Given the description of an element on the screen output the (x, y) to click on. 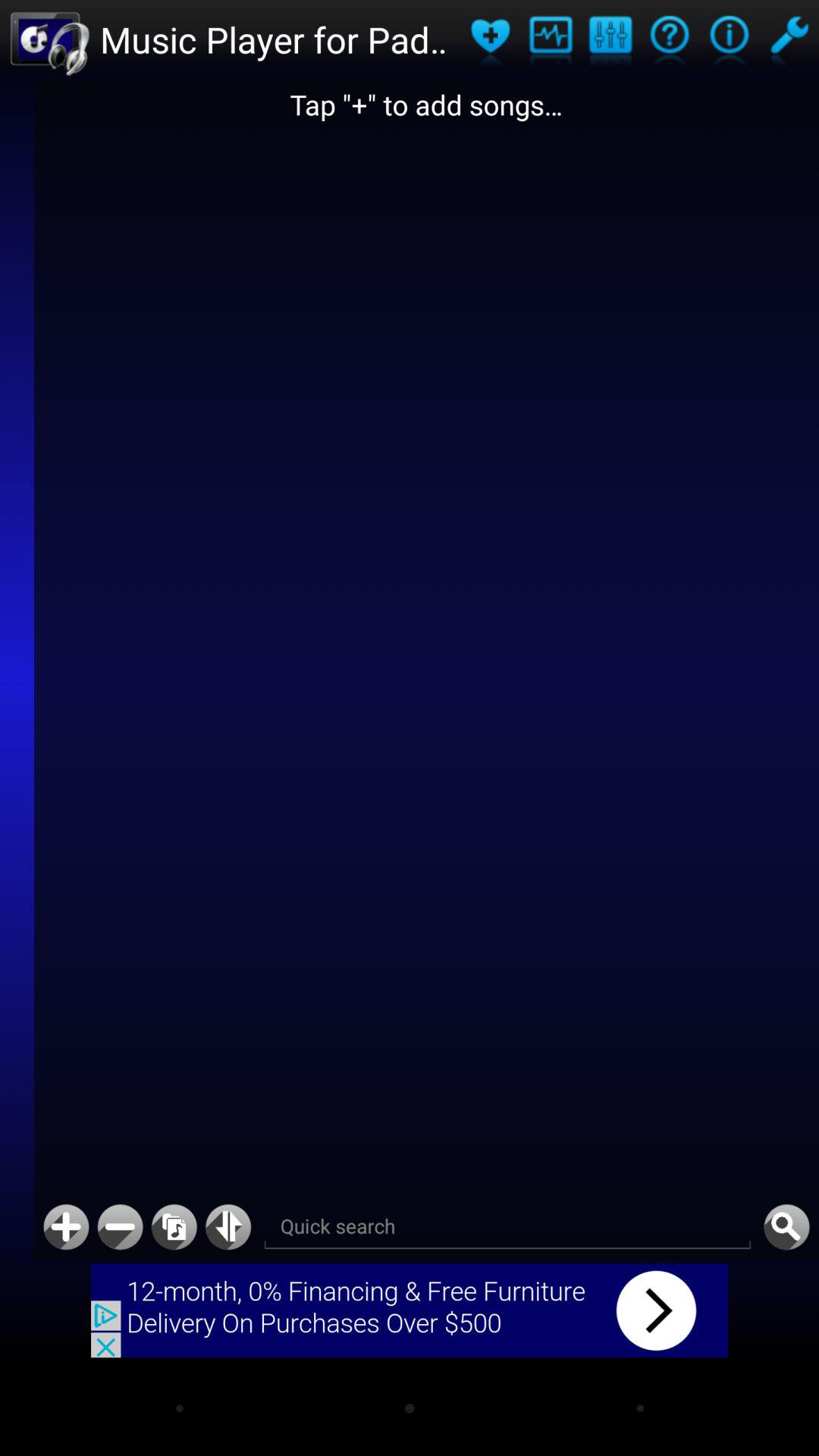
enable tools (789, 39)
